Given the description of an element on the screen output the (x, y) to click on. 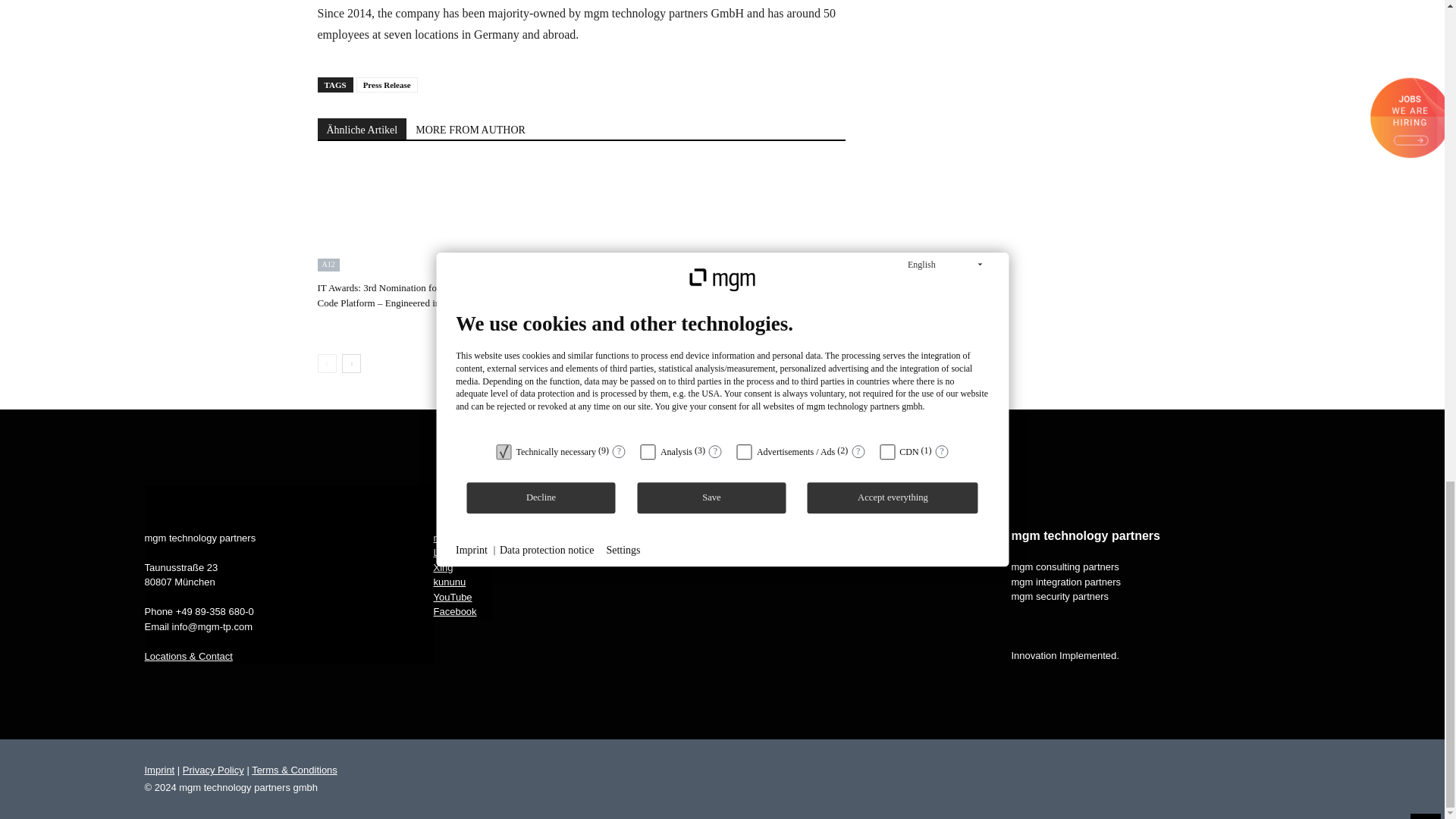
More strength for the management of mgm consulting partners (571, 294)
More strength for the management of mgm consulting partners (580, 218)
